Given the description of an element on the screen output the (x, y) to click on. 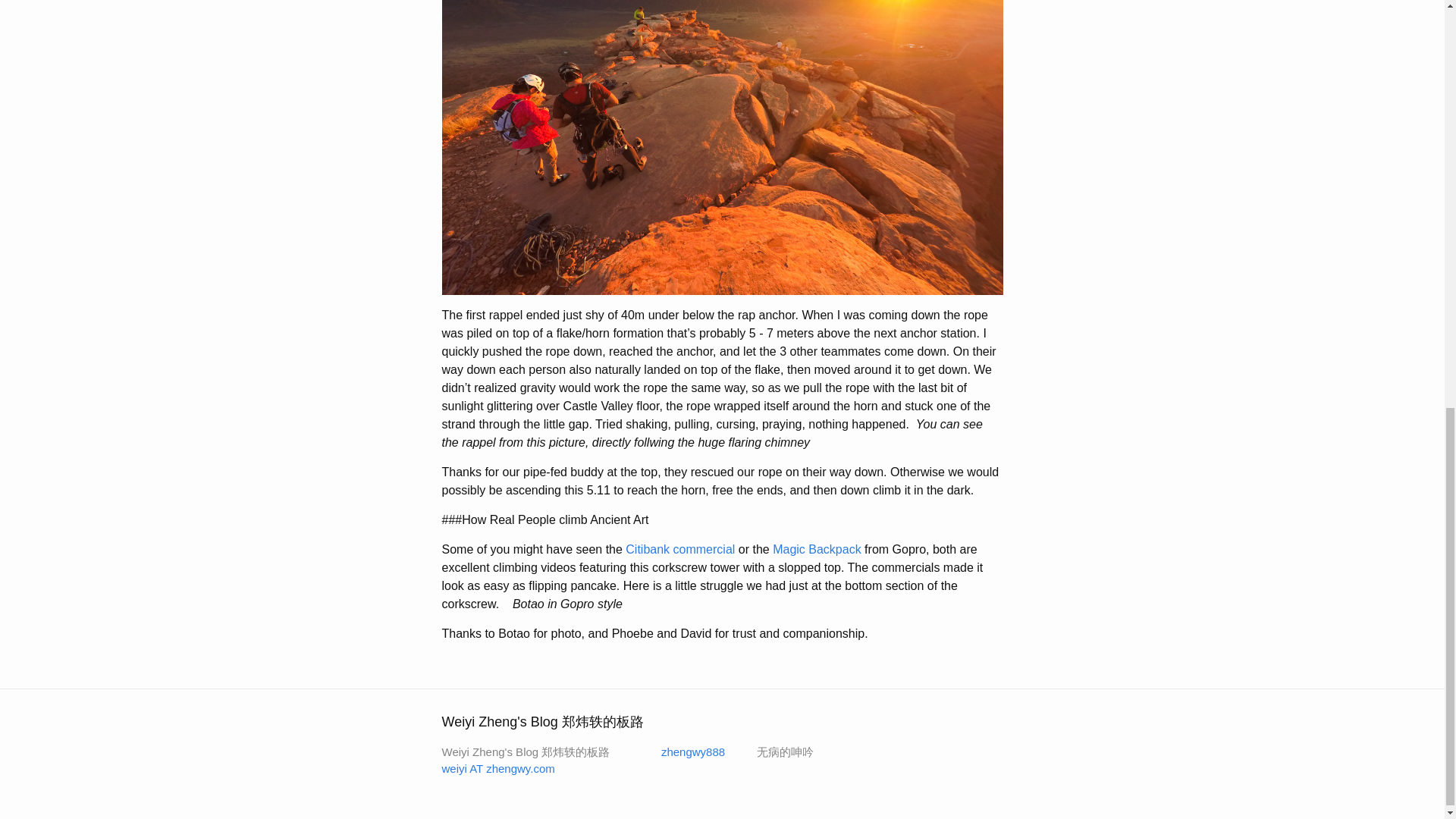
zhengwy888 (683, 751)
Citibank commercial (680, 549)
Magic Backpack (817, 549)
weiyi AT zhengwy.com (497, 768)
